Given the description of an element on the screen output the (x, y) to click on. 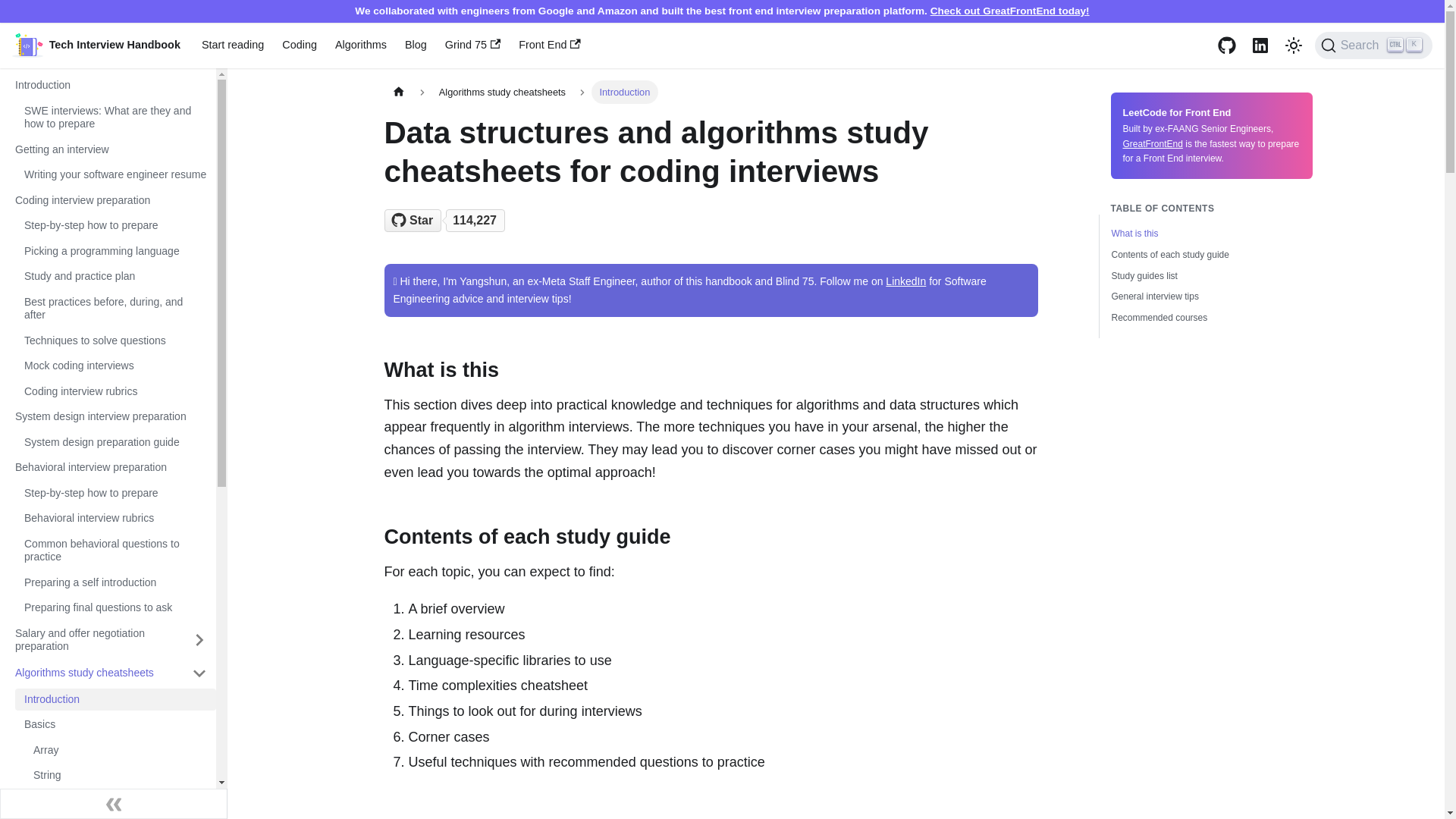
Picking a programming language (114, 250)
Collapse sidebar (1373, 44)
Behavioral interview preparation (113, 803)
Techniques to solve questions (110, 467)
Writing your software engineer resume (114, 340)
Coding (114, 174)
Common behavioral questions to practice (299, 45)
SWE interviews: What are they and how to prepare (114, 550)
GitHub Stars (114, 117)
Start reading (448, 220)
System design interview preparation (232, 45)
Tech Interview Handbook (110, 416)
Introduction (95, 45)
Preparing a self introduction (114, 699)
